Given the description of an element on the screen output the (x, y) to click on. 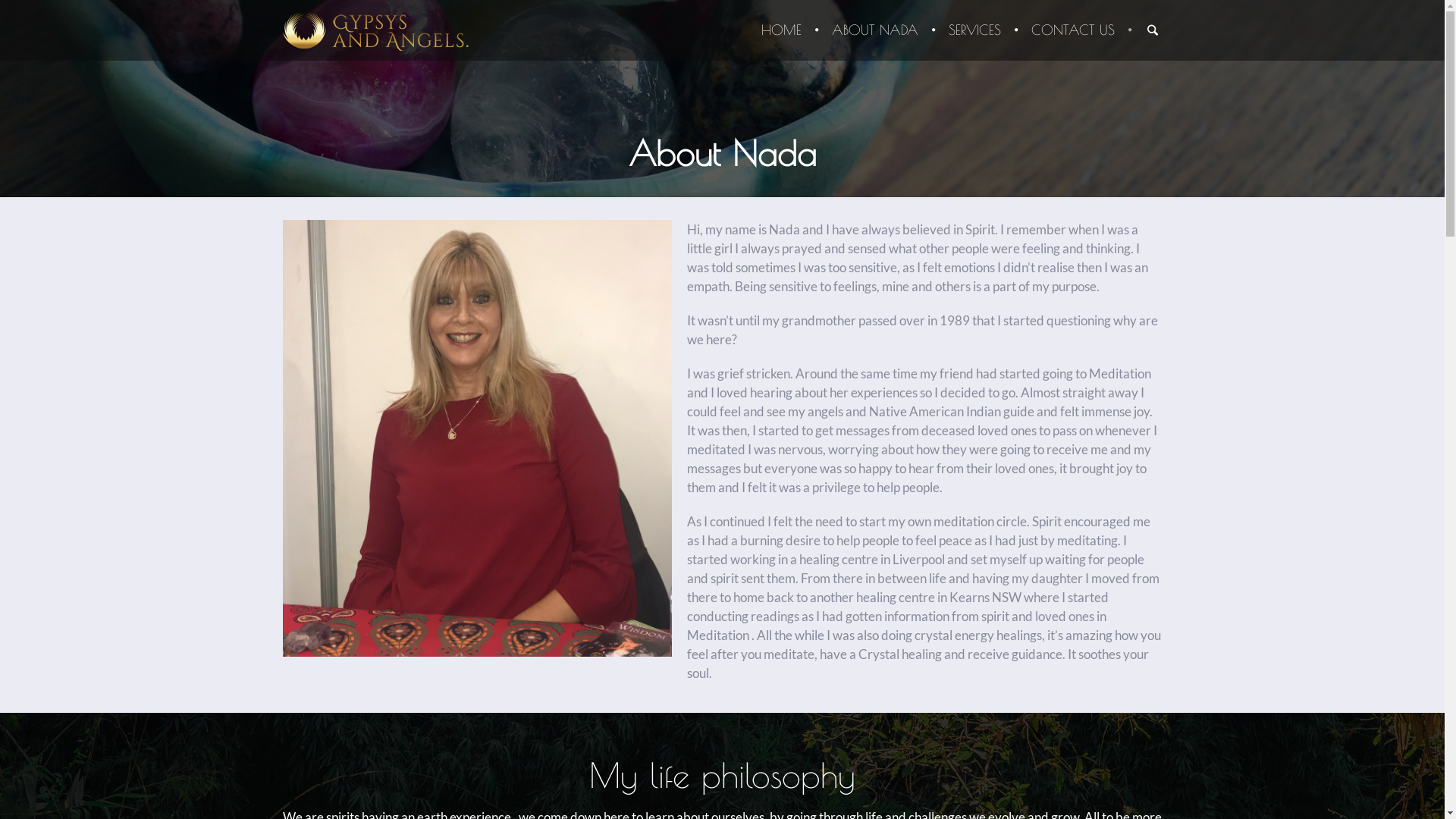
EMPATH Element type: text (559, 629)
BEST MEDIUM CLAIRVOYANT SYDNEY Element type: text (702, 629)
Skype Element type: hover (747, 705)
CRYSTAL HEALING Element type: text (468, 629)
Email Element type: hover (656, 705)
ABOUT NADA Element type: text (874, 30)
Facebook Element type: hover (702, 705)
Skype Element type: hover (793, 705)
SERVICES Element type: text (974, 30)
BEST MEDITATION TEACHERS SYDNEY Element type: text (920, 629)
Gypsys Angels and Coffee Element type: hover (721, 516)
CONTACT US Element type: text (1065, 30)
HOME Element type: text (781, 30)
